Given the description of an element on the screen output the (x, y) to click on. 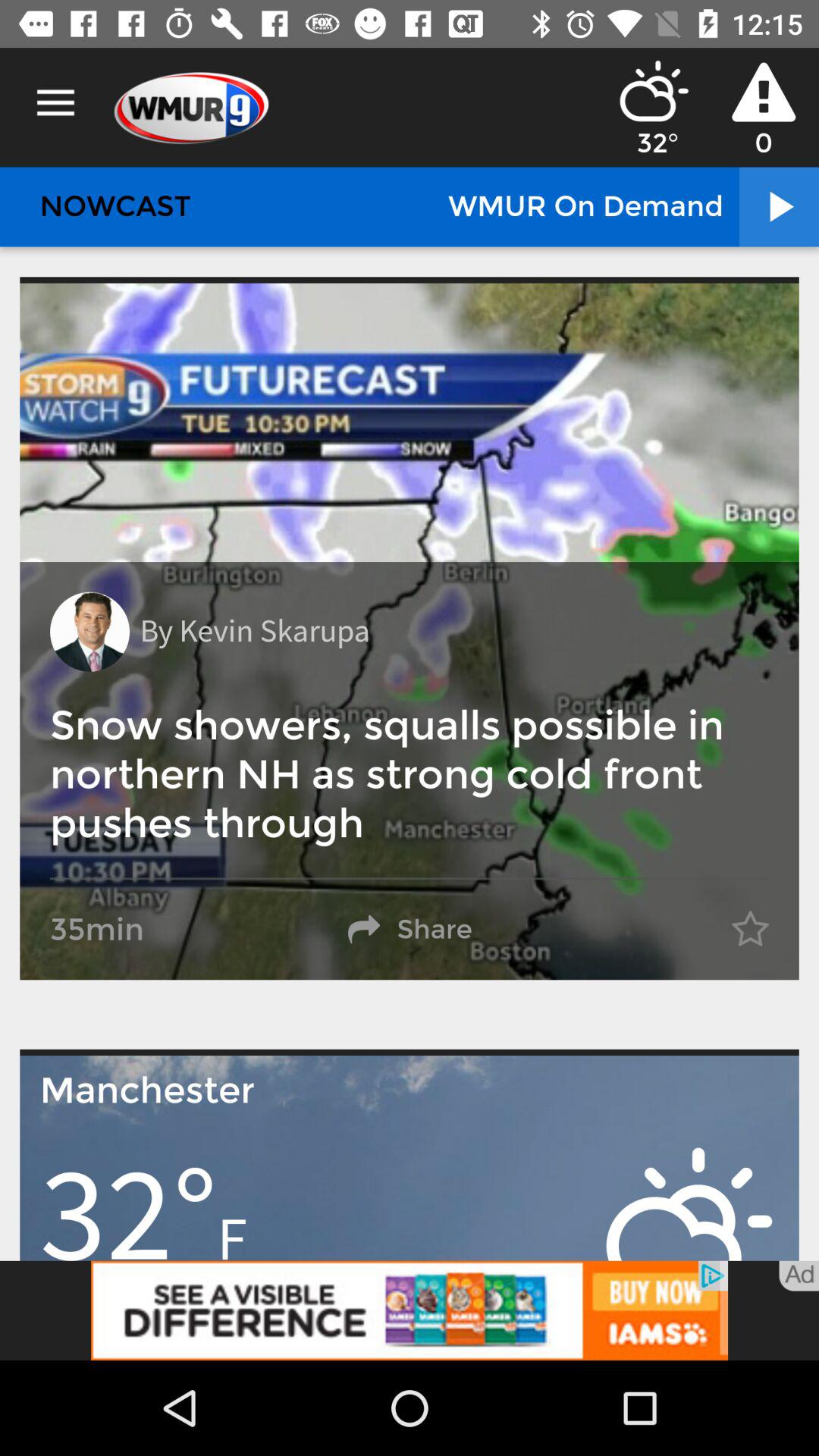
advertisements image (409, 1310)
